Given the description of an element on the screen output the (x, y) to click on. 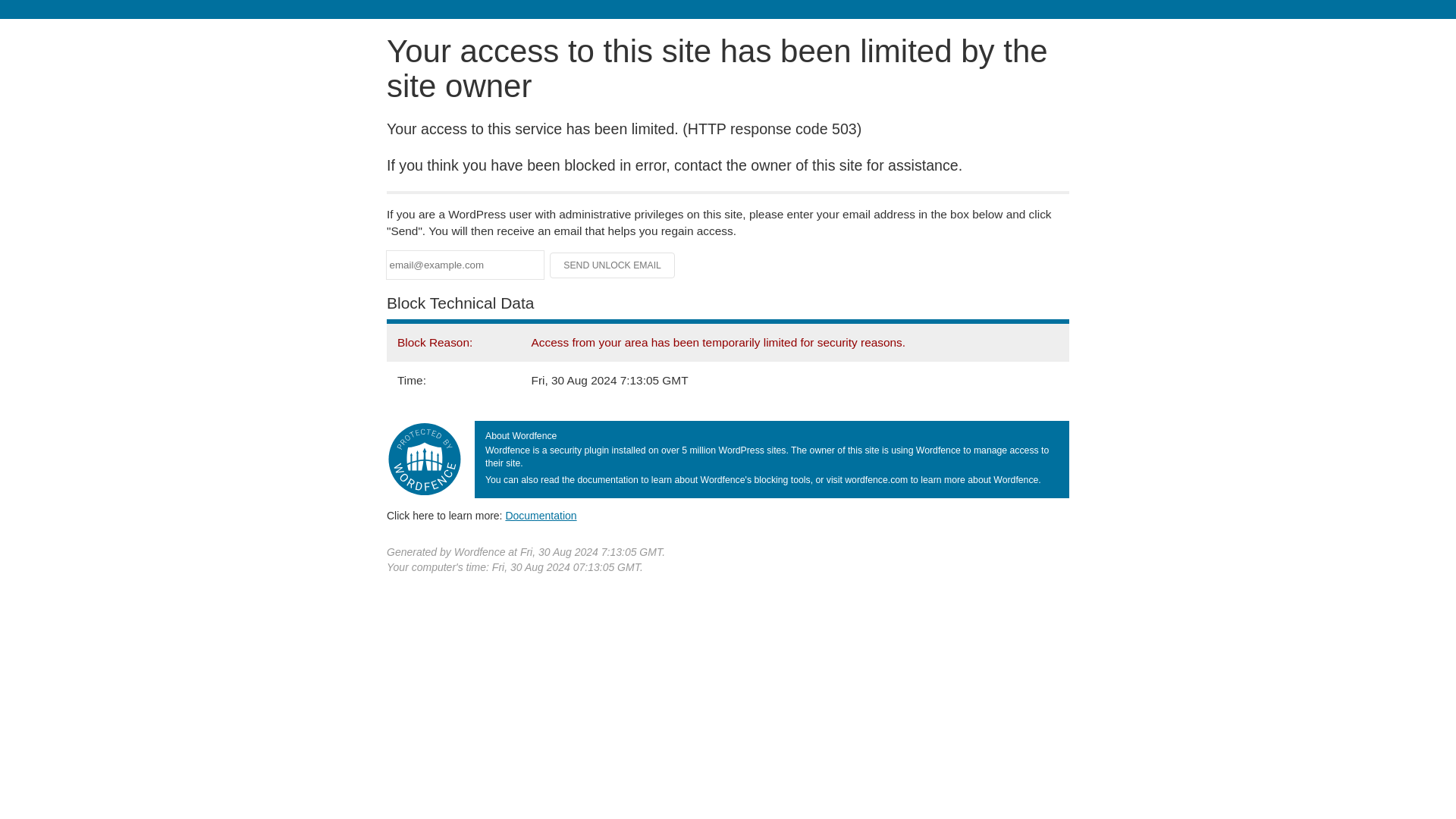
Send Unlock Email (612, 265)
Send Unlock Email (612, 265)
Documentation (540, 515)
